Given the description of an element on the screen output the (x, y) to click on. 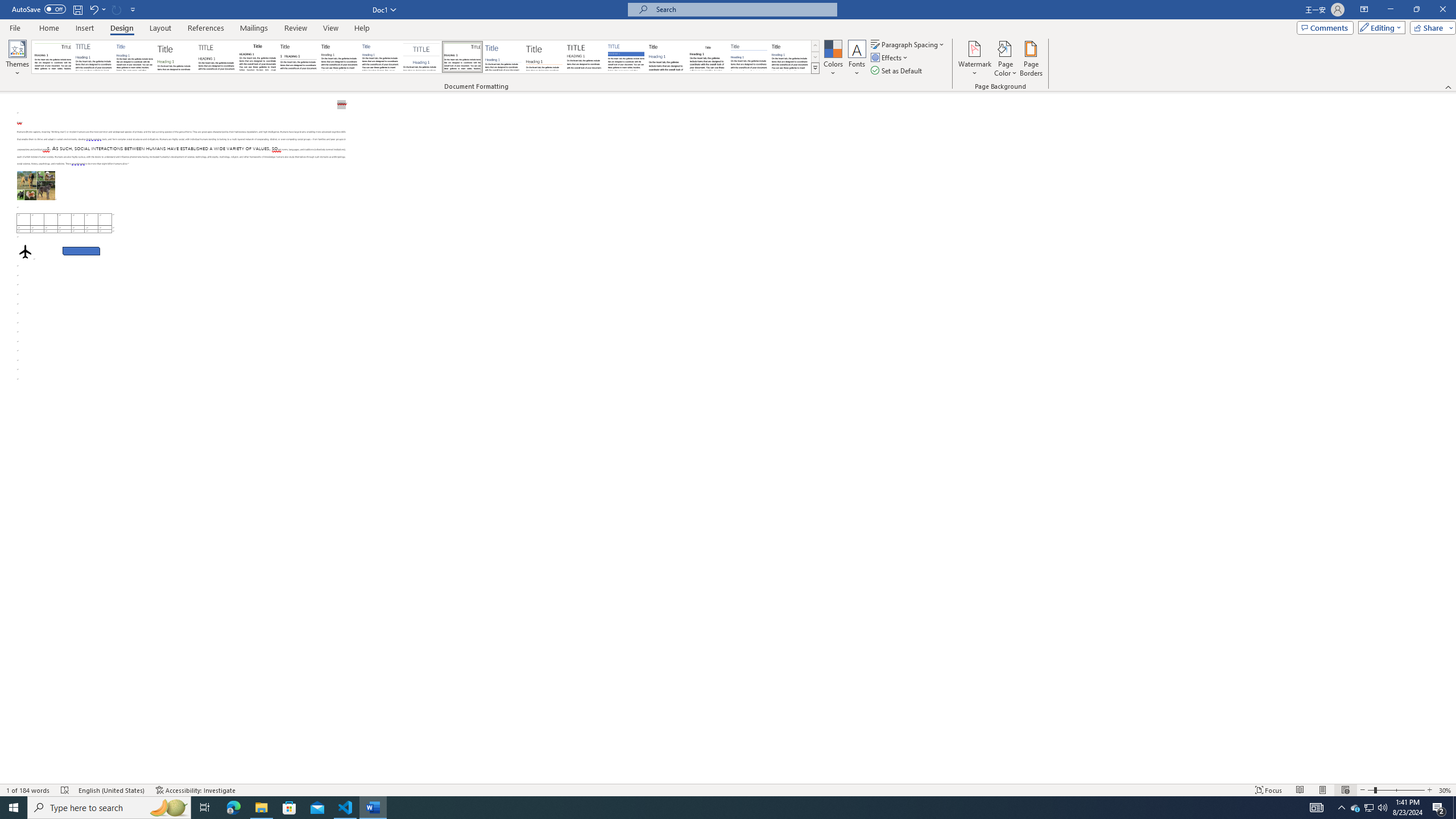
Lines (Stylish) (544, 56)
Colors (832, 58)
Fonts (856, 58)
Document (52, 56)
Paragraph Spacing (908, 44)
Style Set (814, 67)
Black & White (Numbered) (298, 56)
Undo Apply Quick Style Set (92, 9)
